Given the description of an element on the screen output the (x, y) to click on. 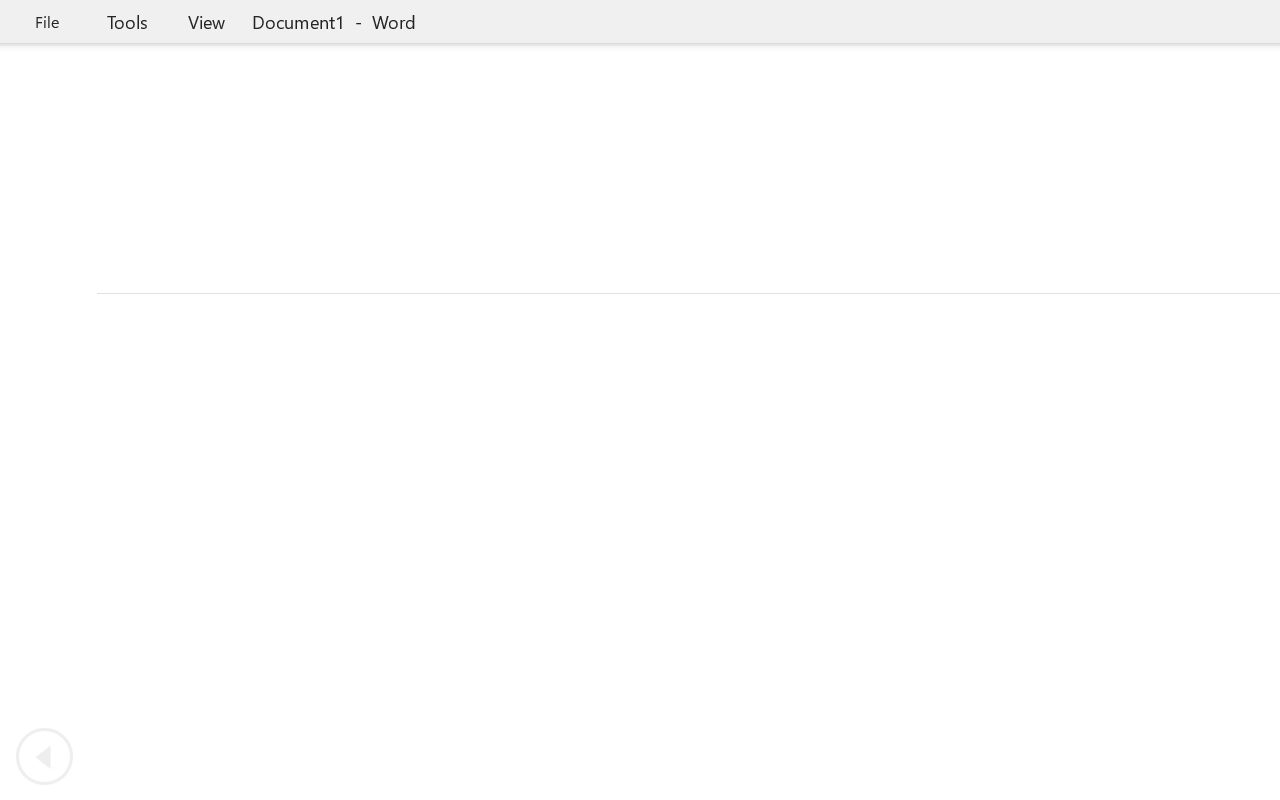
Tools (127, 21)
